Given the description of an element on the screen output the (x, y) to click on. 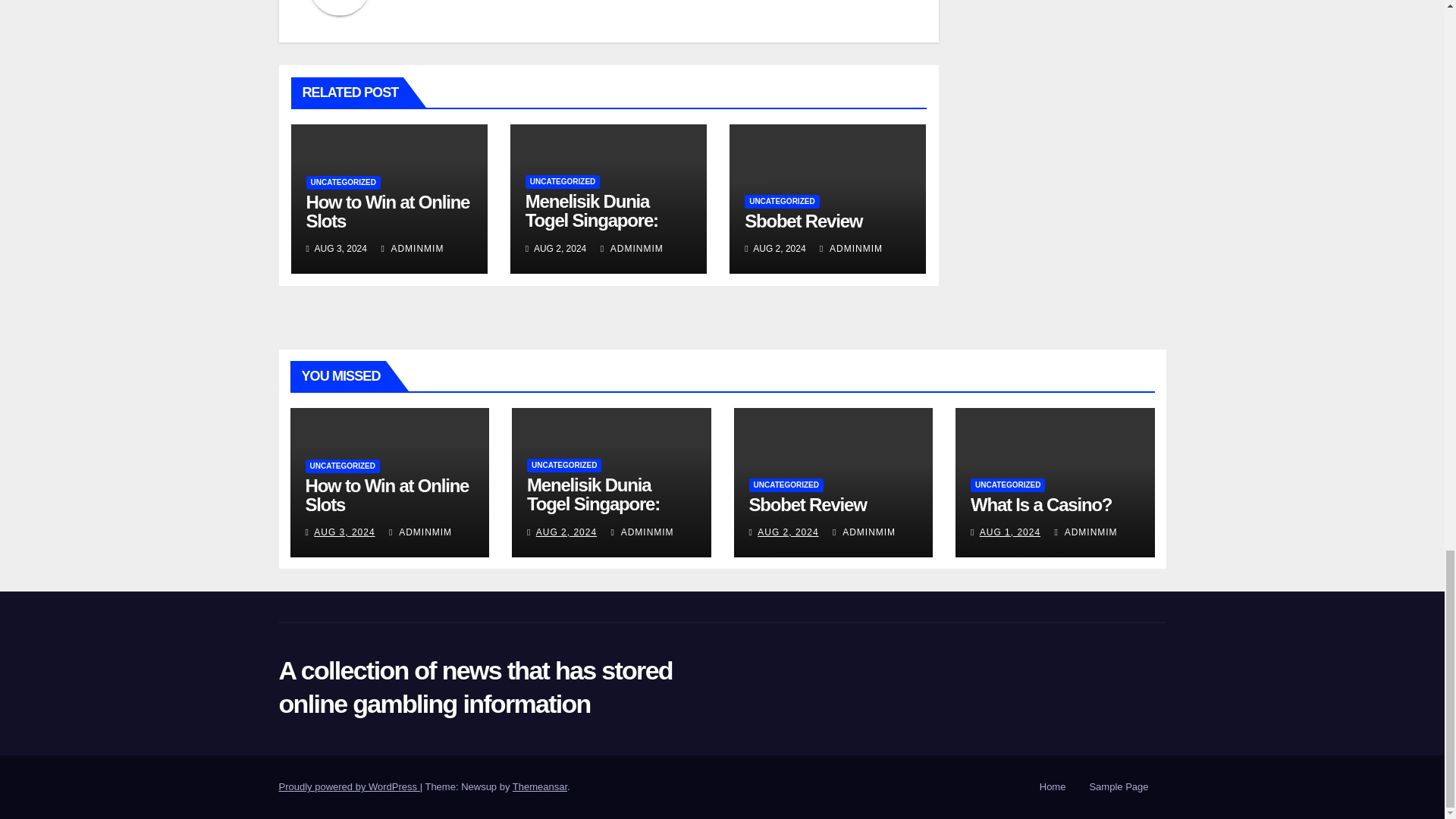
Home (1052, 786)
UNCATEGORIZED (781, 201)
ADMINMIM (850, 248)
ADMINMIM (631, 248)
Permalink to: Sbobet Review (802, 220)
UNCATEGORIZED (342, 182)
UNCATEGORIZED (562, 182)
Permalink to: How to Win at Online Slots (387, 210)
Sbobet Review (802, 220)
Permalink to: What Is a Casino? (1041, 504)
Permalink to: Sbobet Review (807, 504)
Permalink to: How to Win at Online Slots (386, 495)
